Given the description of an element on the screen output the (x, y) to click on. 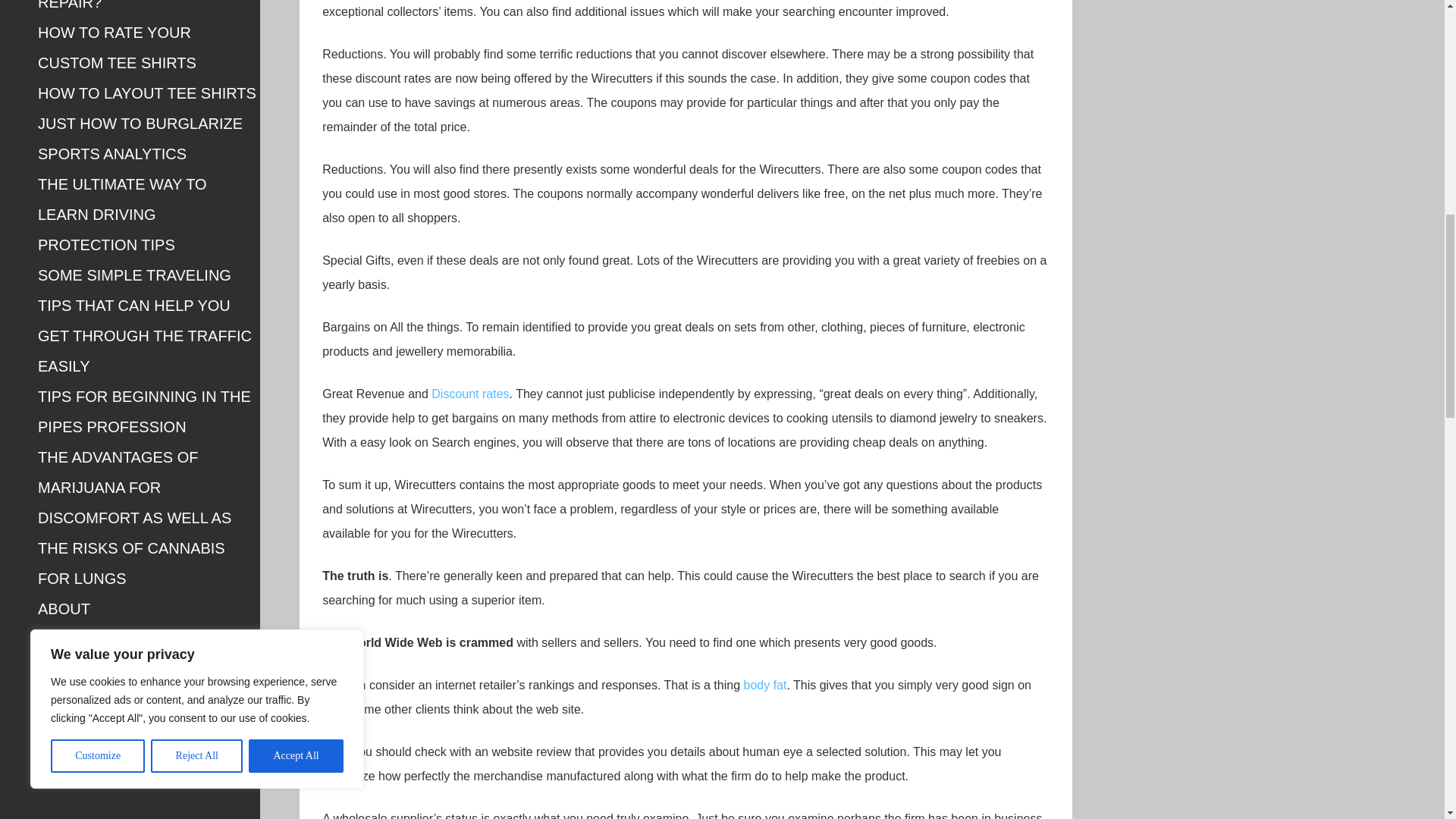
Discount rates (469, 393)
body fat (764, 684)
